Given the description of an element on the screen output the (x, y) to click on. 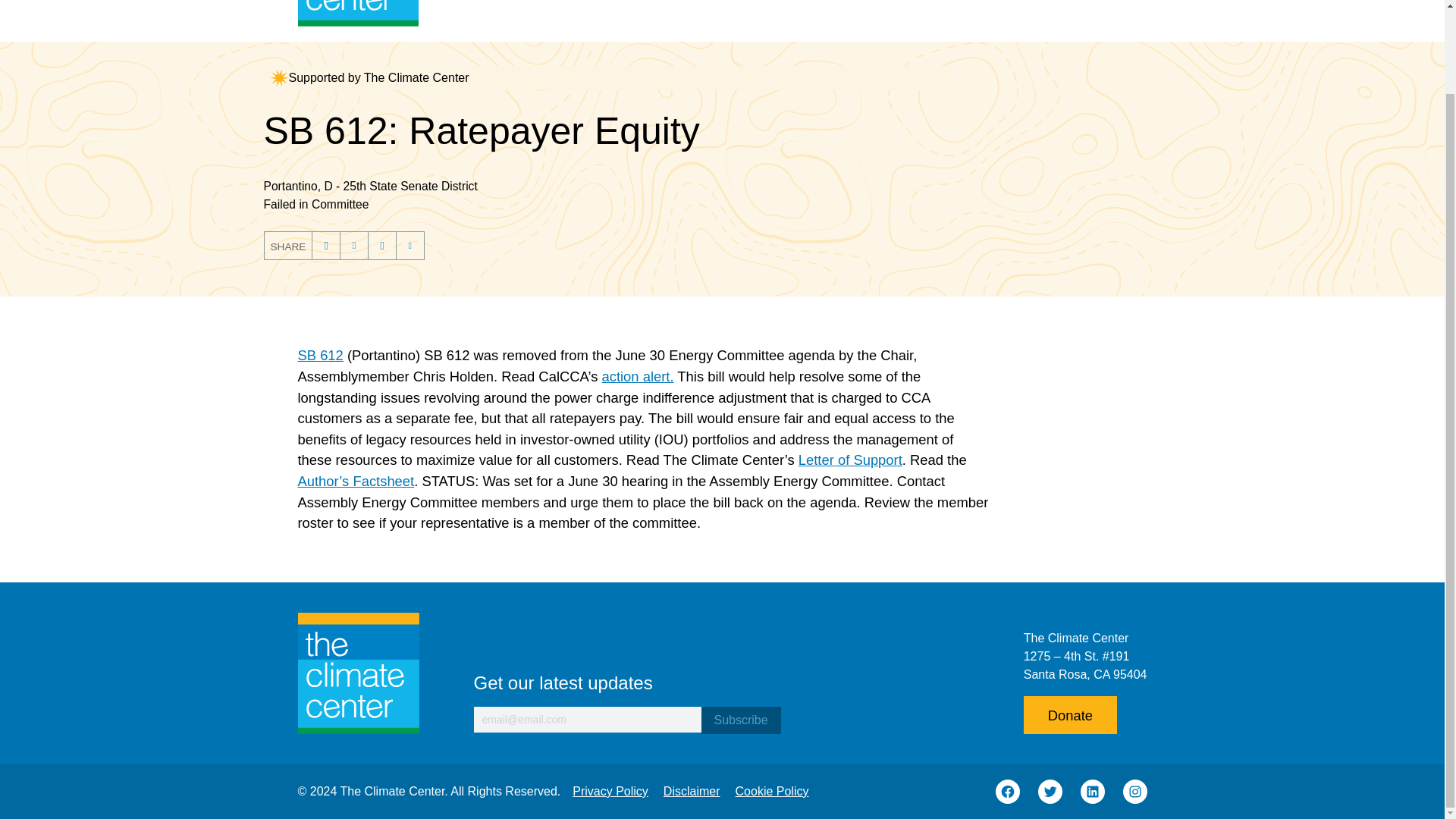
Events (1038, 4)
Climate-Safe California (803, 4)
What We Do (948, 4)
About (681, 4)
Donate (1110, 4)
Subscribe (740, 719)
